Given the description of an element on the screen output the (x, y) to click on. 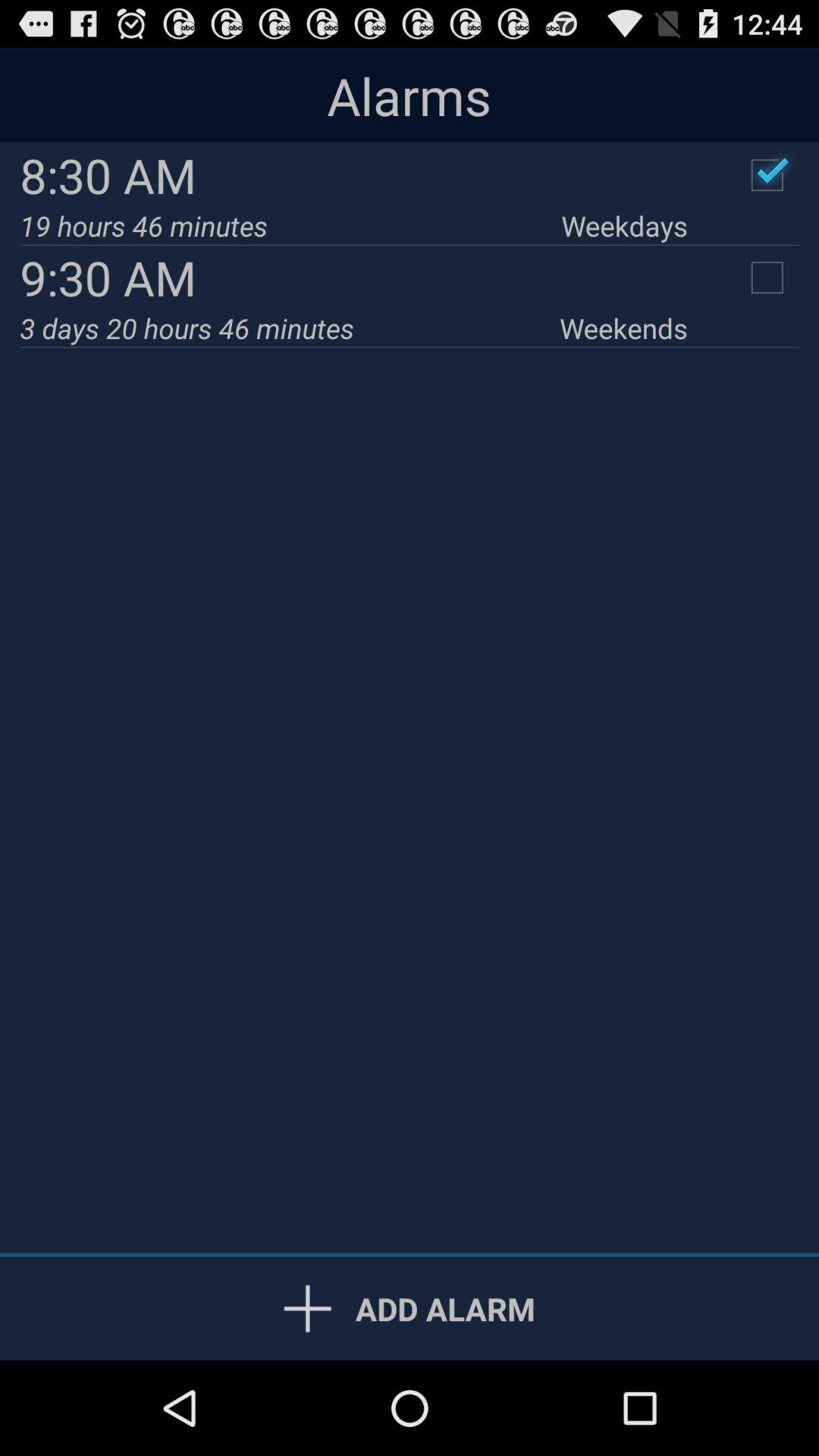
open the app above the 9:30 am app (624, 225)
